Given the description of an element on the screen output the (x, y) to click on. 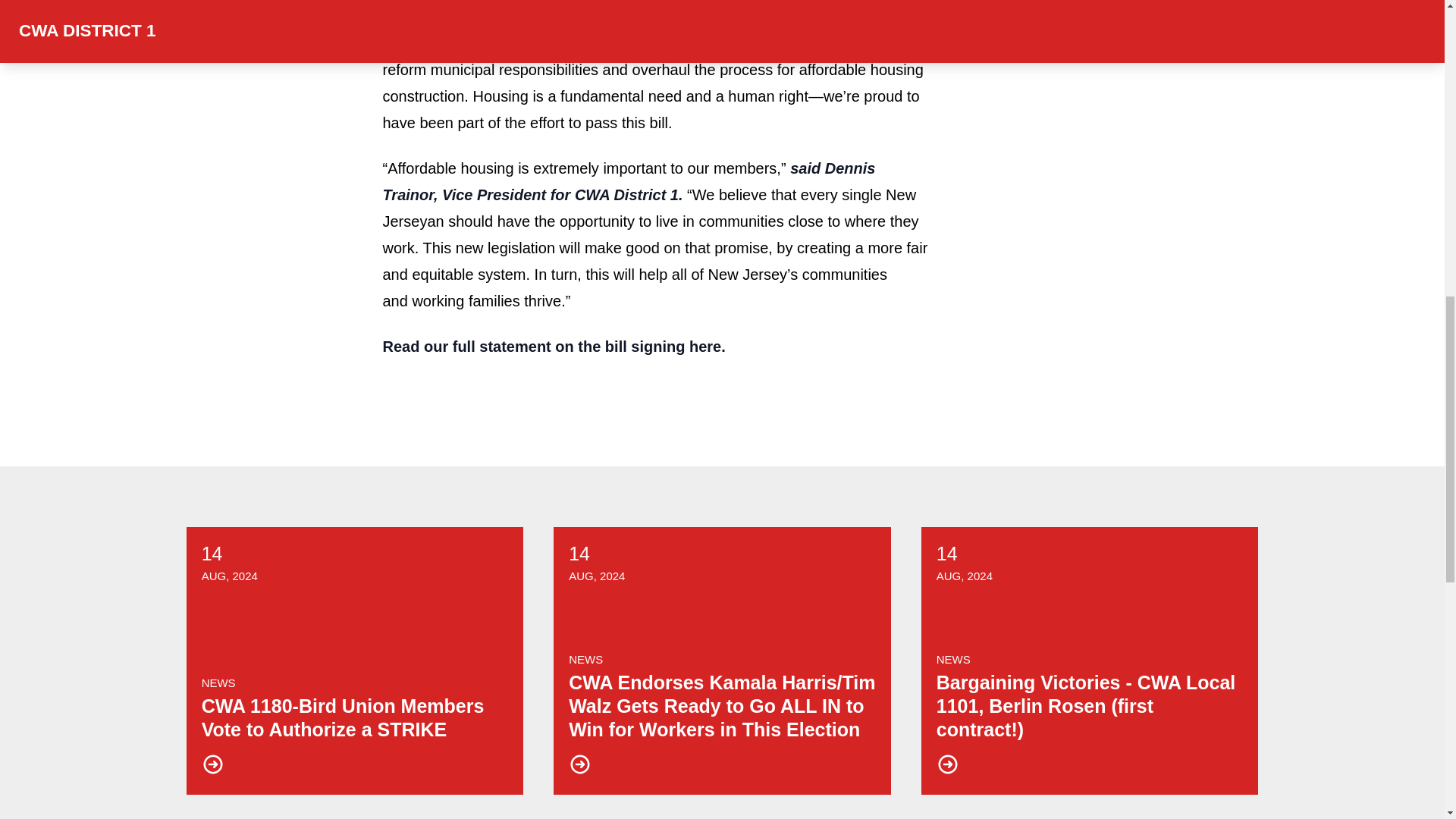
Wednesday, August 14, 2024 - 10:06 (596, 575)
Wednesday, August 14, 2024 - 10:08 (229, 575)
Wednesday, August 14, 2024 - 10:06 (579, 553)
Wednesday, August 14, 2024 - 10:05 (964, 575)
Wednesday, August 14, 2024 - 10:05 (947, 553)
Wednesday, August 14, 2024 - 10:08 (212, 553)
